Given the description of an element on the screen output the (x, y) to click on. 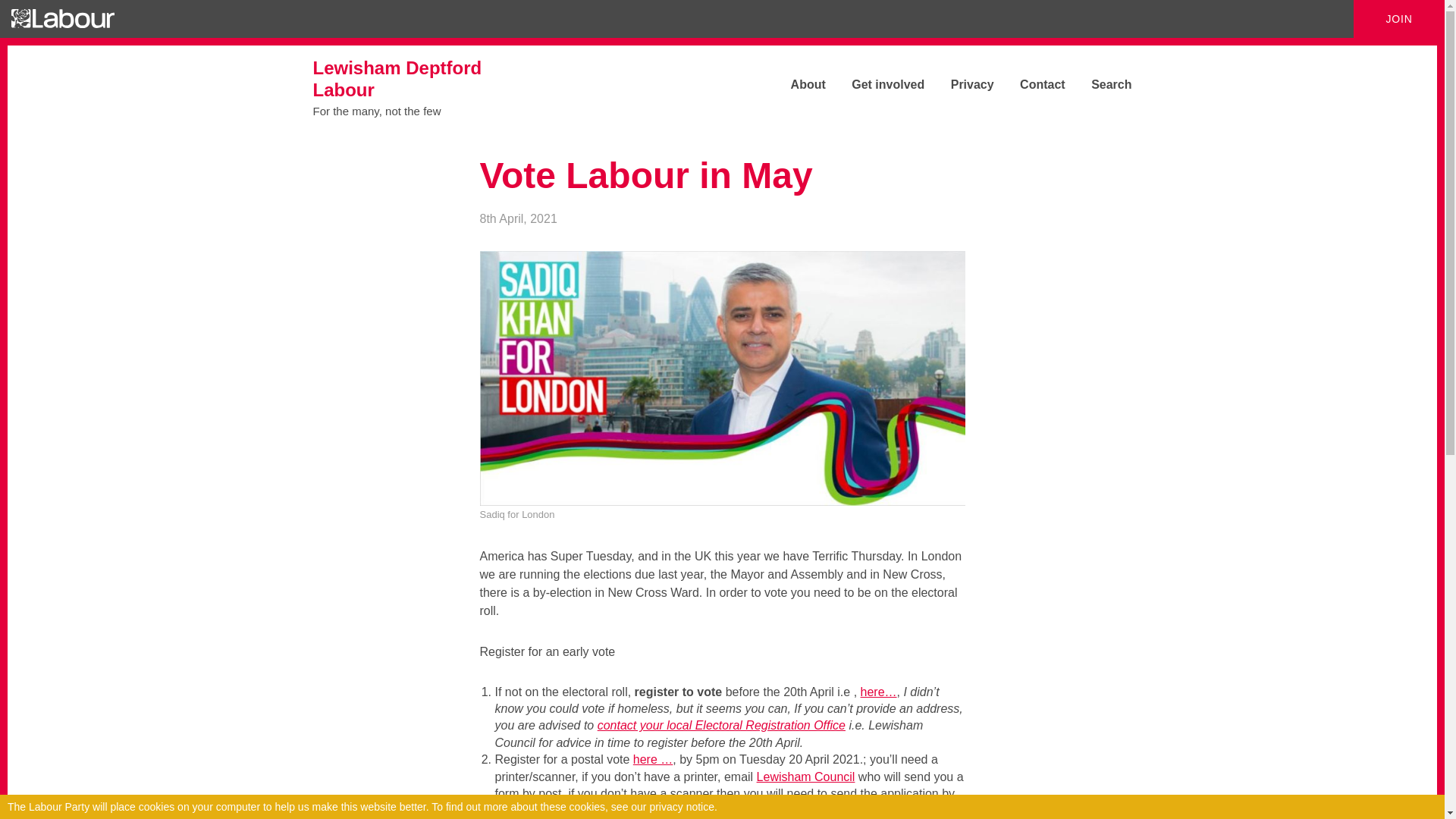
Privacy (961, 83)
Search (1099, 83)
contact your local Electoral Registration Office (720, 725)
Lewisham Council (806, 776)
Get involved (876, 83)
Contact (1031, 83)
About (426, 86)
